Given the description of an element on the screen output the (x, y) to click on. 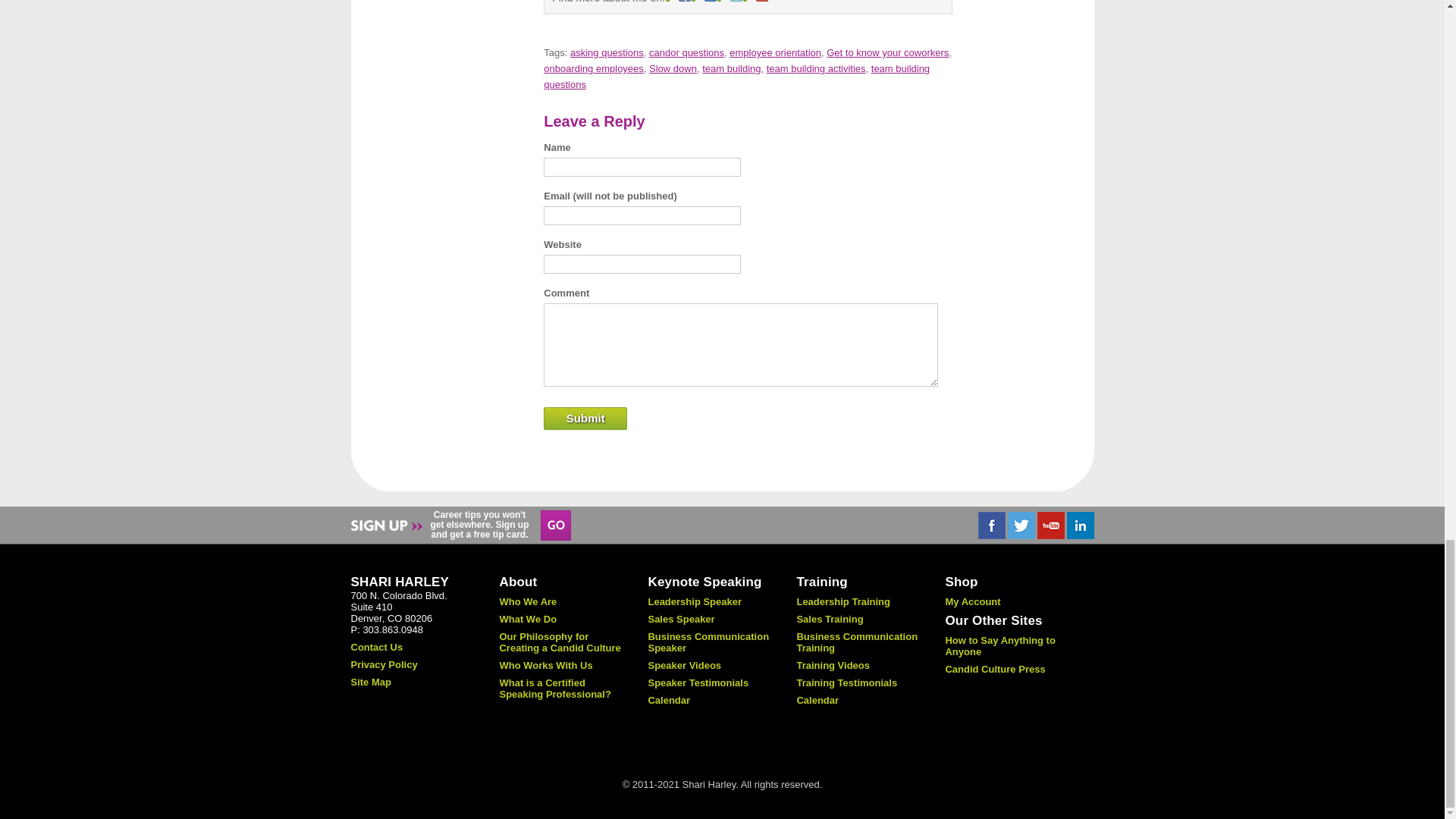
LinkedIn (1079, 524)
Follow me on Linkedin (710, 2)
YouTube (1050, 524)
Follow me on Youtube (761, 2)
Facebook (992, 524)
Twitter (1020, 524)
Follow me on Twitter (736, 2)
Follow me on Facebook (684, 2)
Submit (585, 418)
